Given the description of an element on the screen output the (x, y) to click on. 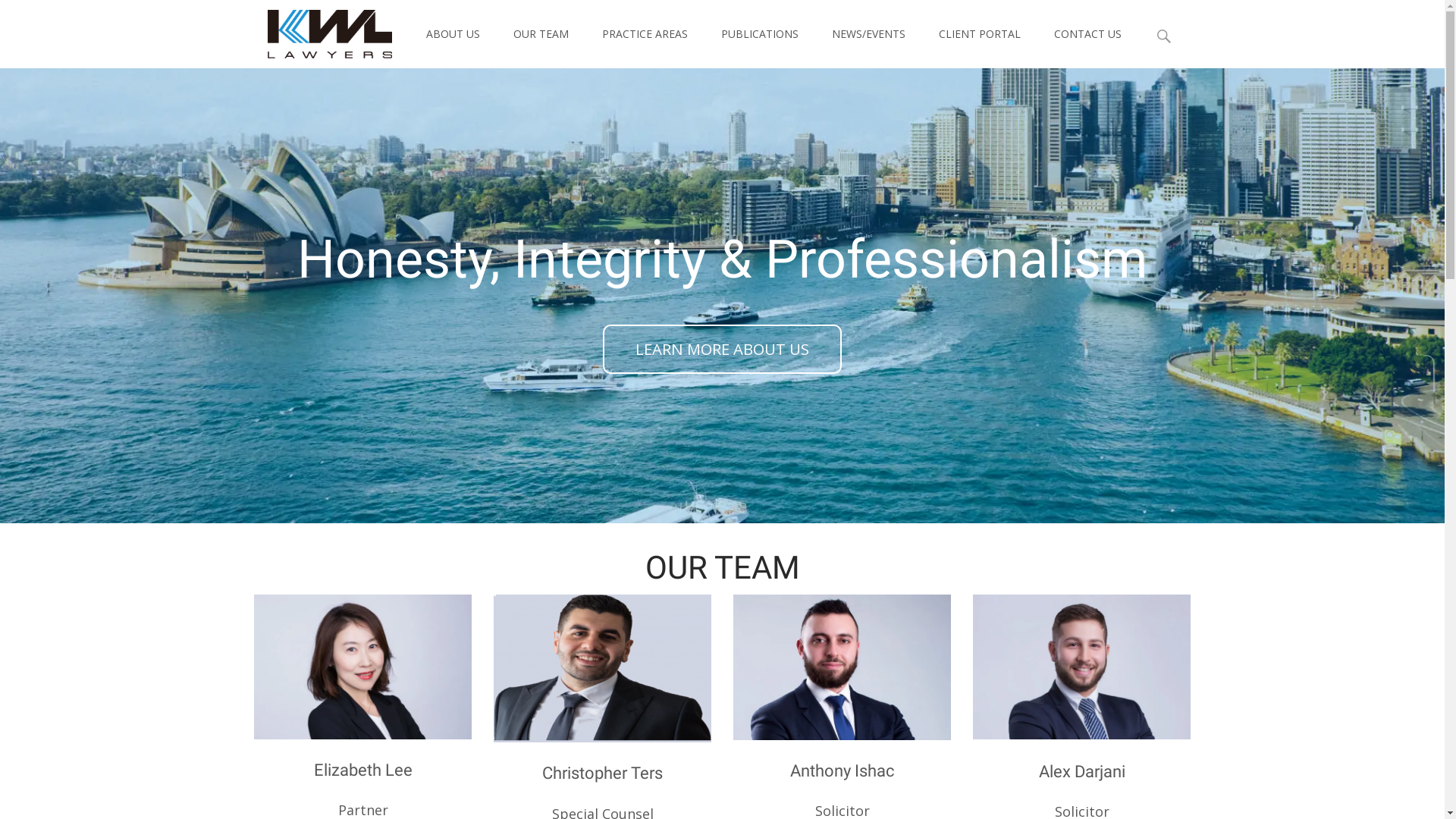
OUR TEAM Element type: text (540, 34)
Search for: Element type: hover (1163, 35)
PRACTICE AREAS Element type: text (644, 34)
Search Element type: text (18, 15)
NEWS/EVENTS Element type: text (867, 34)
PUBLICATIONS Element type: text (758, 34)
ABOUT US Element type: text (453, 34)
LEARN MORE ABOUT US Element type: text (721, 348)
OUR TEAM Element type: text (721, 567)
CONTACT US Element type: text (1087, 34)
CLIENT PORTAL Element type: text (979, 34)
KWL Lawyers Element type: hover (316, 30)
